Given the description of an element on the screen output the (x, y) to click on. 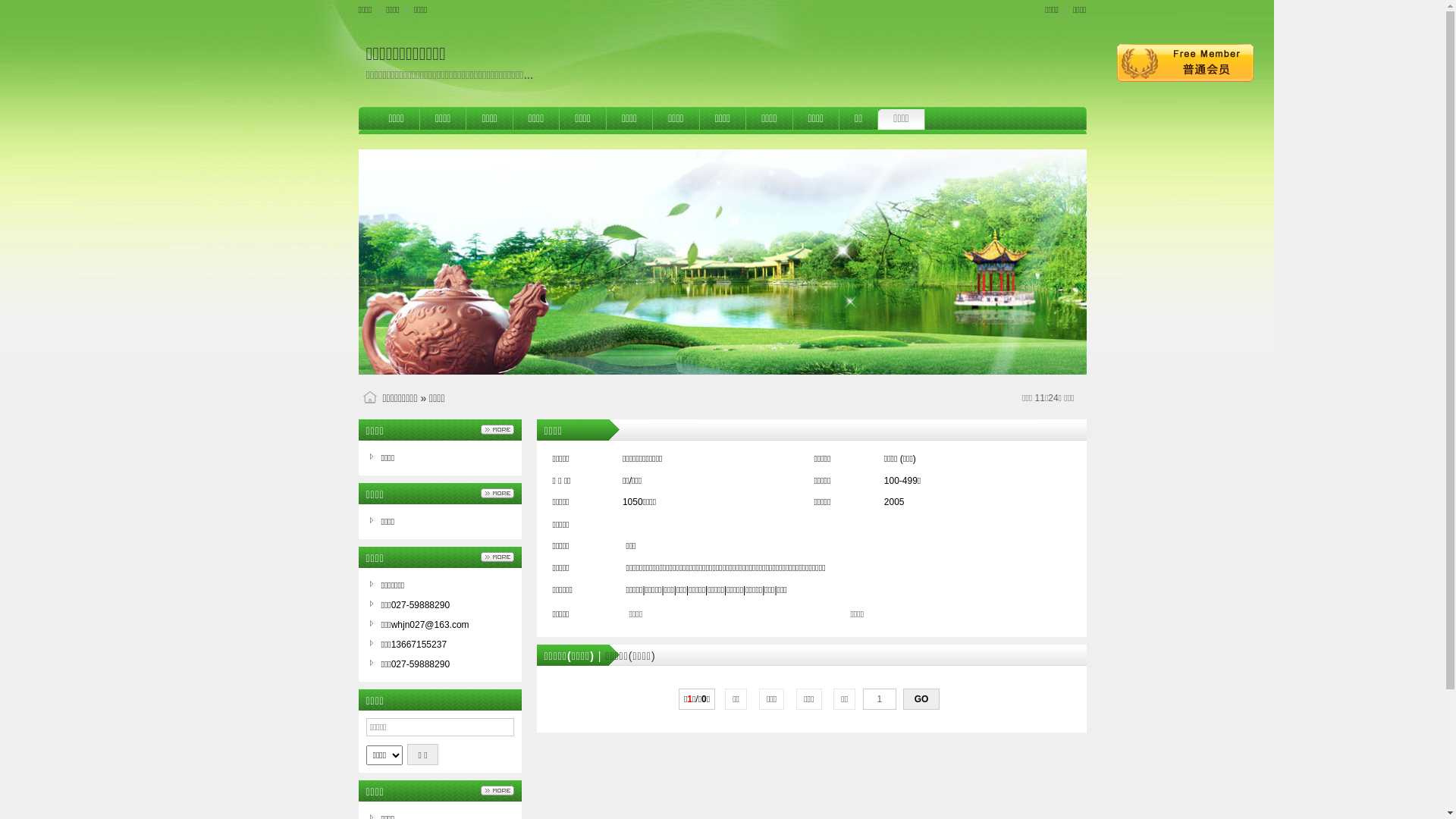
GO Element type: text (921, 698)
